Given the description of an element on the screen output the (x, y) to click on. 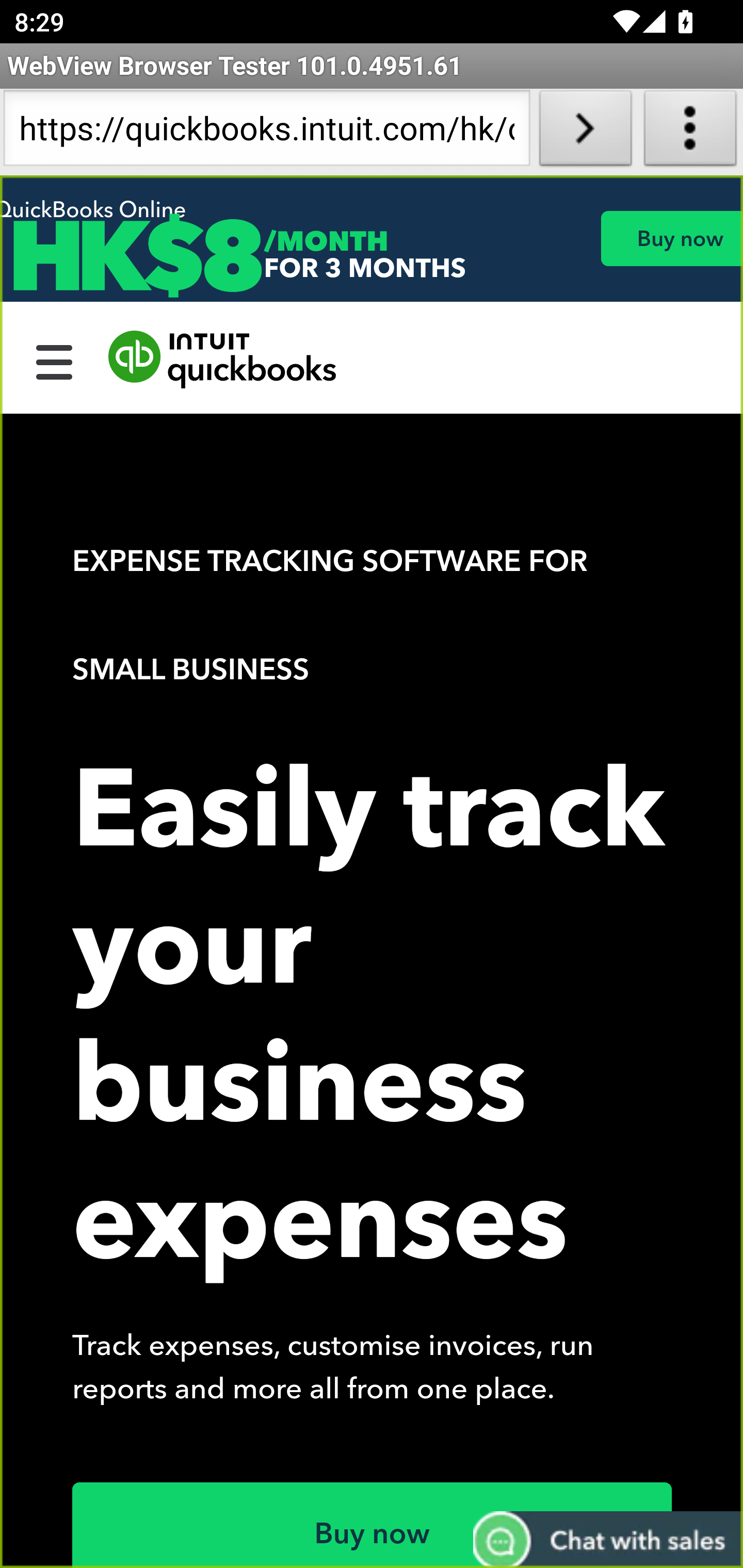
Load URL (585, 132)
About WebView (690, 132)
Buy now (671, 238)
quickbooks-mobile-burger (54, 359)
quickbooks (222, 359)
Buy now (372, 1524)
